Given the description of an element on the screen output the (x, y) to click on. 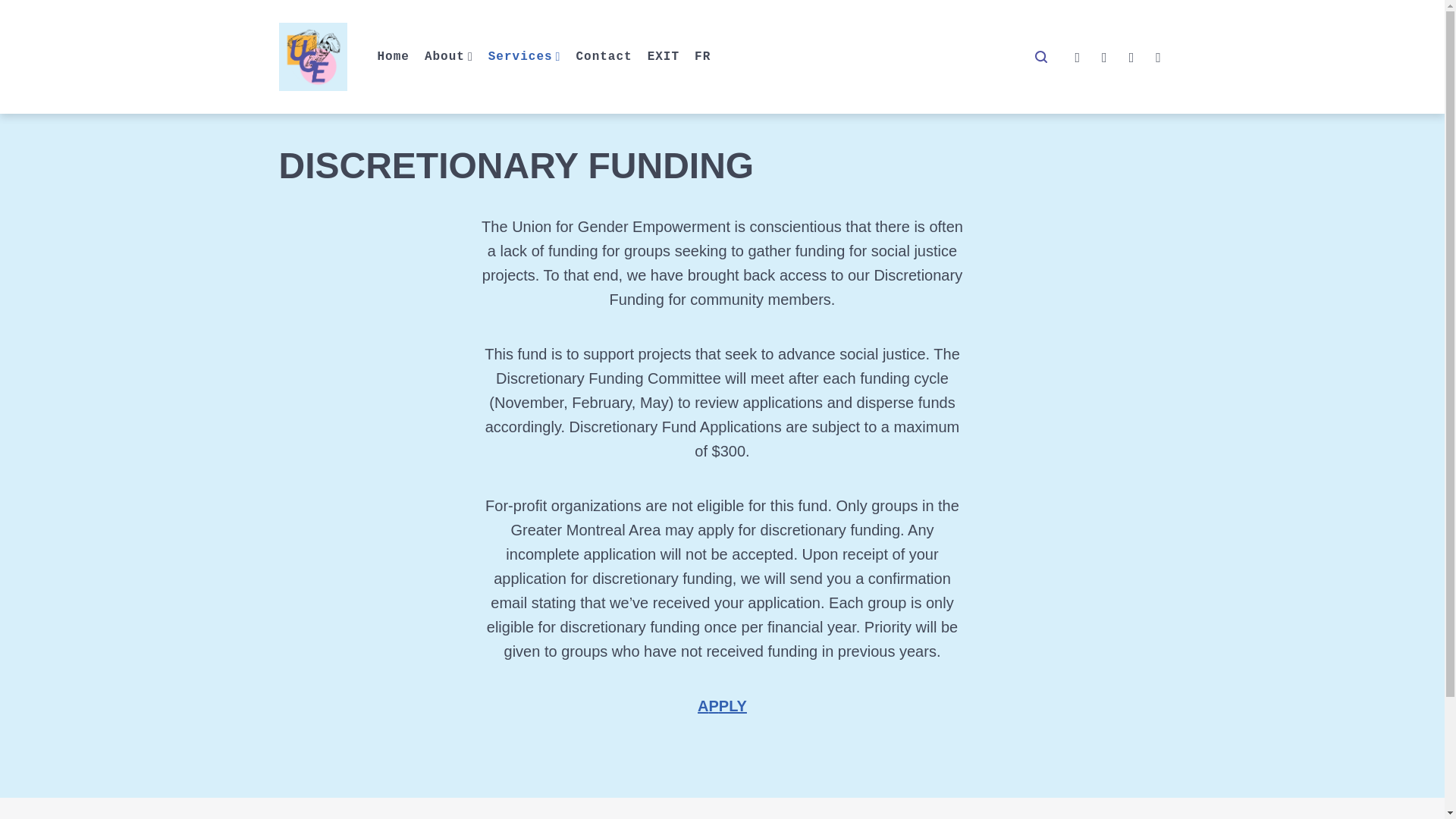
PLY (732, 705)
Home (393, 56)
Services (523, 56)
EXIT (663, 56)
Contact (603, 56)
About (449, 56)
